Given the description of an element on the screen output the (x, y) to click on. 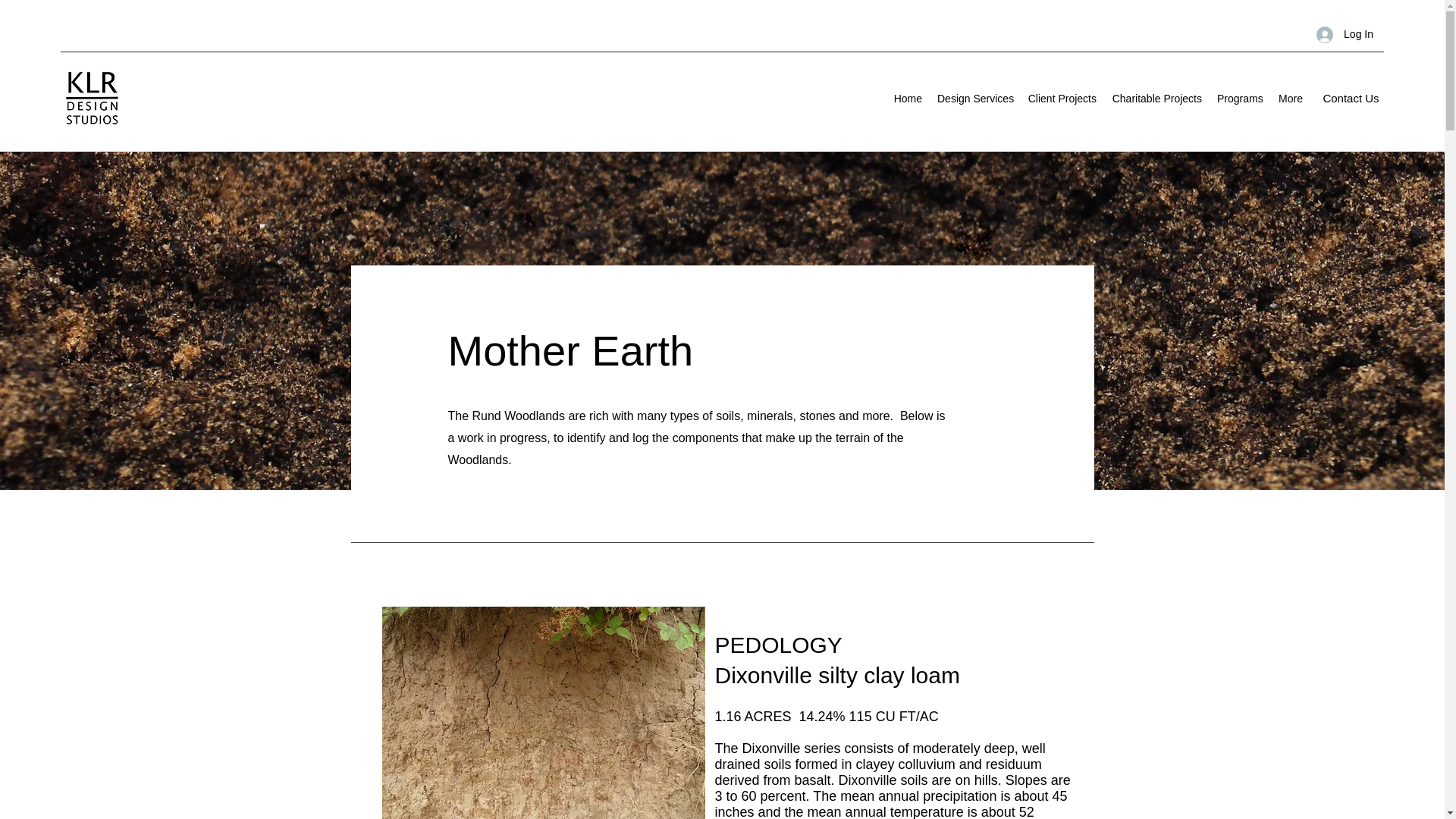
Client Projects (1061, 97)
Charitable Projects (1156, 97)
Home (907, 97)
Contact Us (1351, 97)
Log In (1345, 34)
Programs (1239, 97)
Design Services (975, 97)
